Given the description of an element on the screen output the (x, y) to click on. 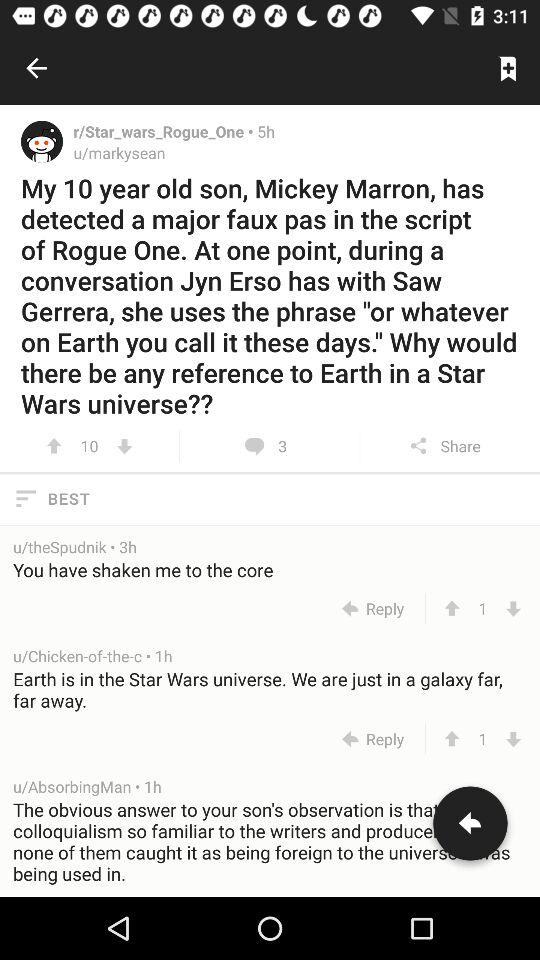
go back (470, 827)
